Given the description of an element on the screen output the (x, y) to click on. 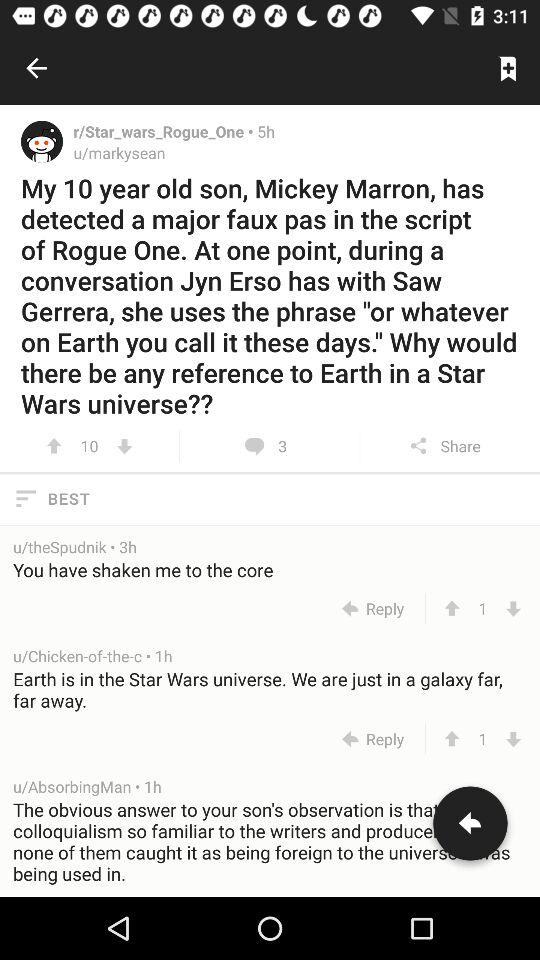
go back (470, 827)
